Given the description of an element on the screen output the (x, y) to click on. 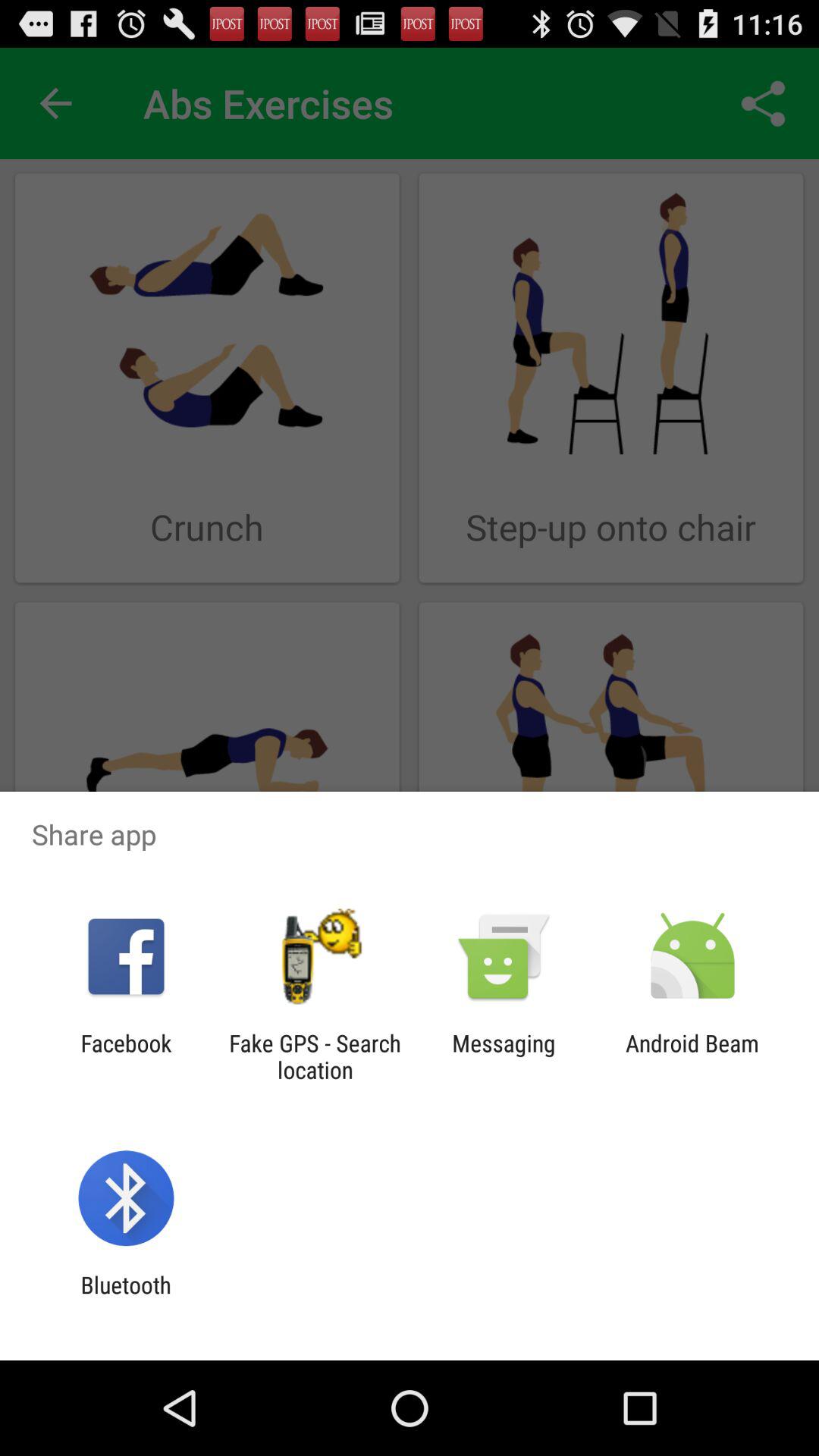
press item next to abs exercises icon (763, 103)
